Given the description of an element on the screen output the (x, y) to click on. 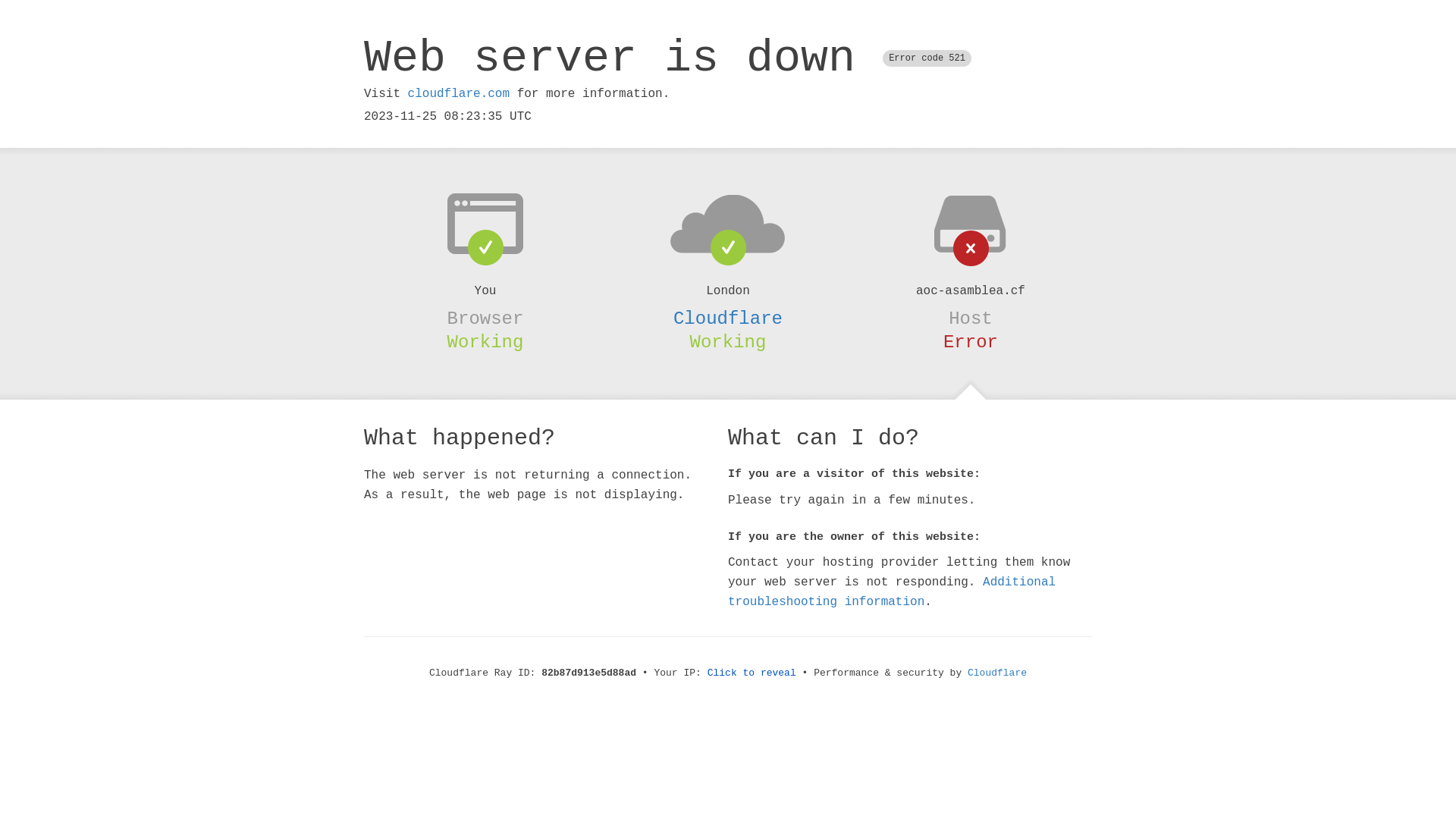
Click to reveal Element type: text (751, 672)
Cloudflare Element type: text (727, 318)
Additional troubleshooting information Element type: text (891, 591)
Cloudflare Element type: text (996, 672)
cloudflare.com Element type: text (458, 93)
